Given the description of an element on the screen output the (x, y) to click on. 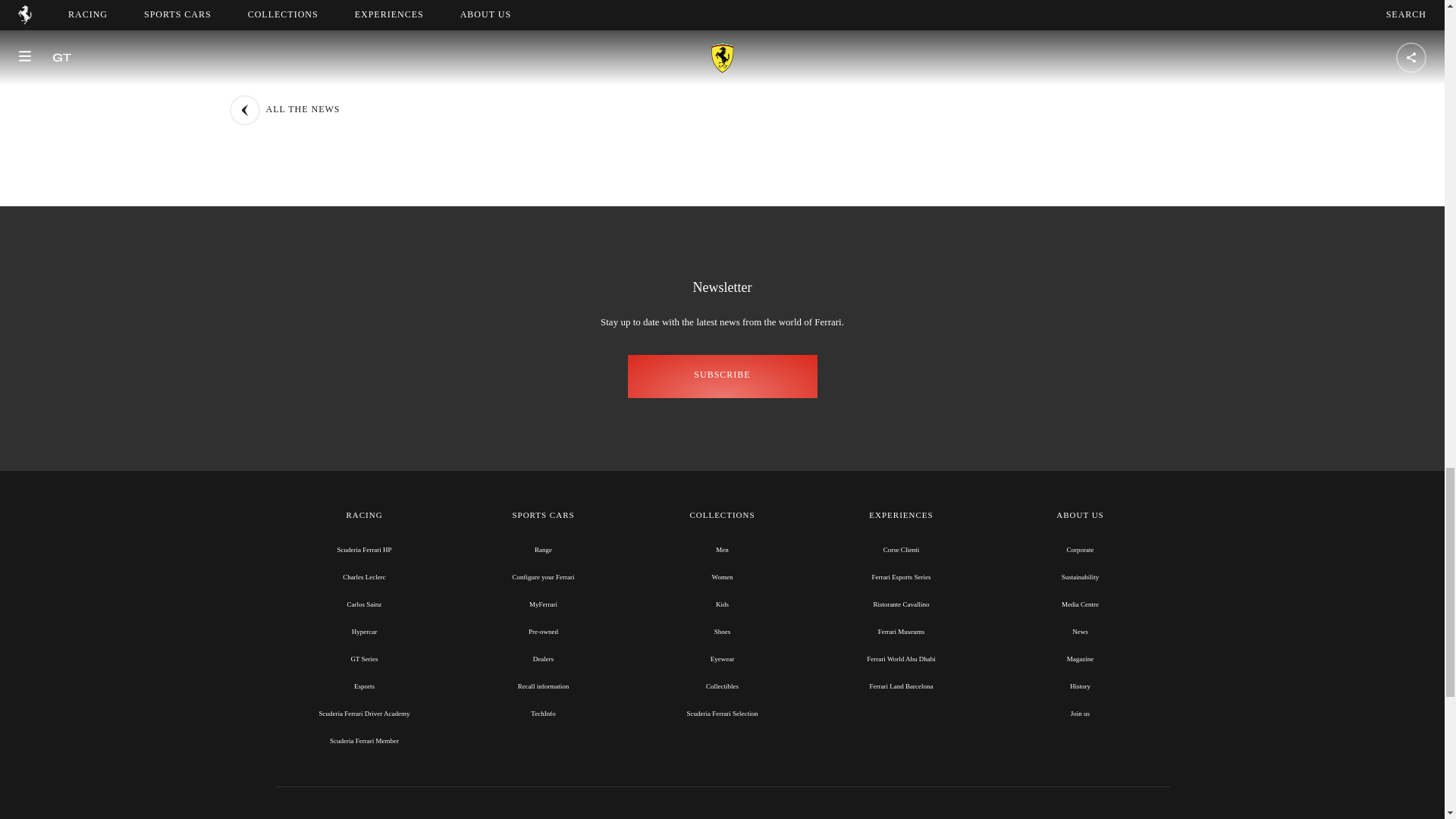
Configure your Ferrari (543, 576)
Hypercar (364, 631)
Carlos Sainz (364, 604)
Recall information (543, 686)
Scuderia Ferrari HP (363, 549)
Pre-owned (542, 631)
Range (542, 549)
Scuderia Ferrari Driver Academy (363, 713)
Scuderia Ferrari Member (364, 740)
MyFerrari (543, 604)
